Given the description of an element on the screen output the (x, y) to click on. 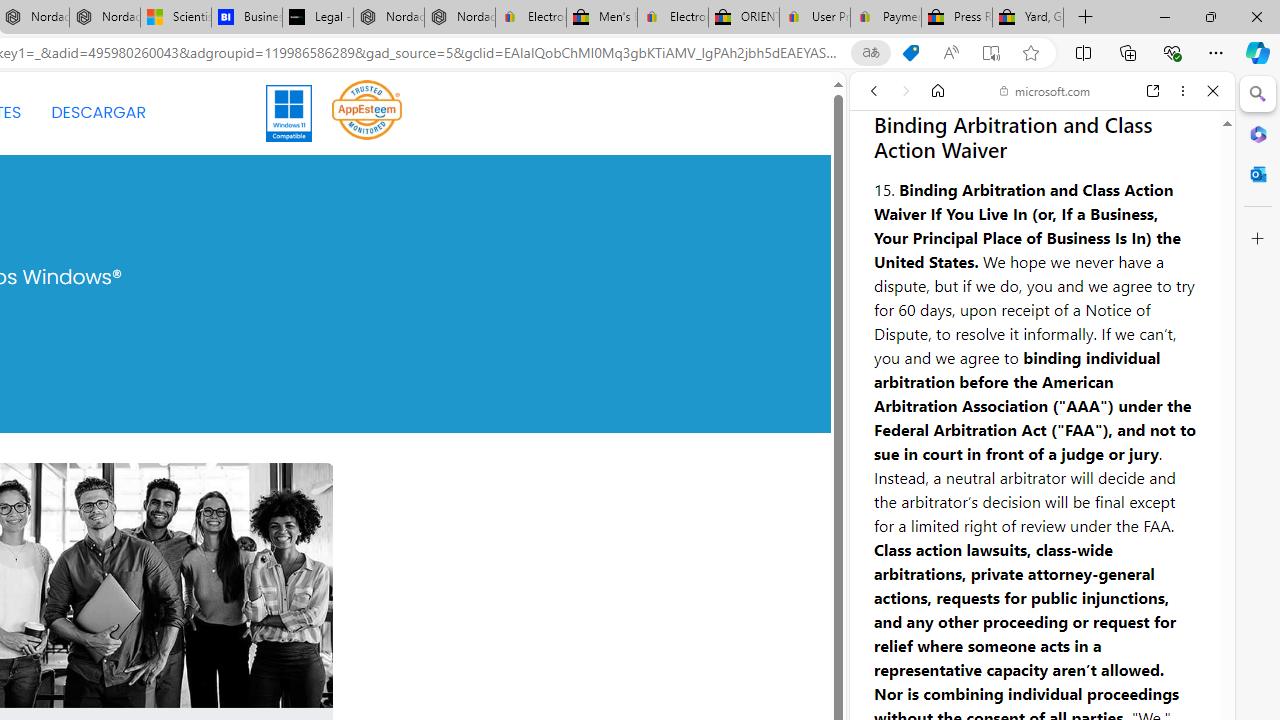
DESCARGAR (98, 112)
Minimize Search pane (1258, 94)
